Given the description of an element on the screen output the (x, y) to click on. 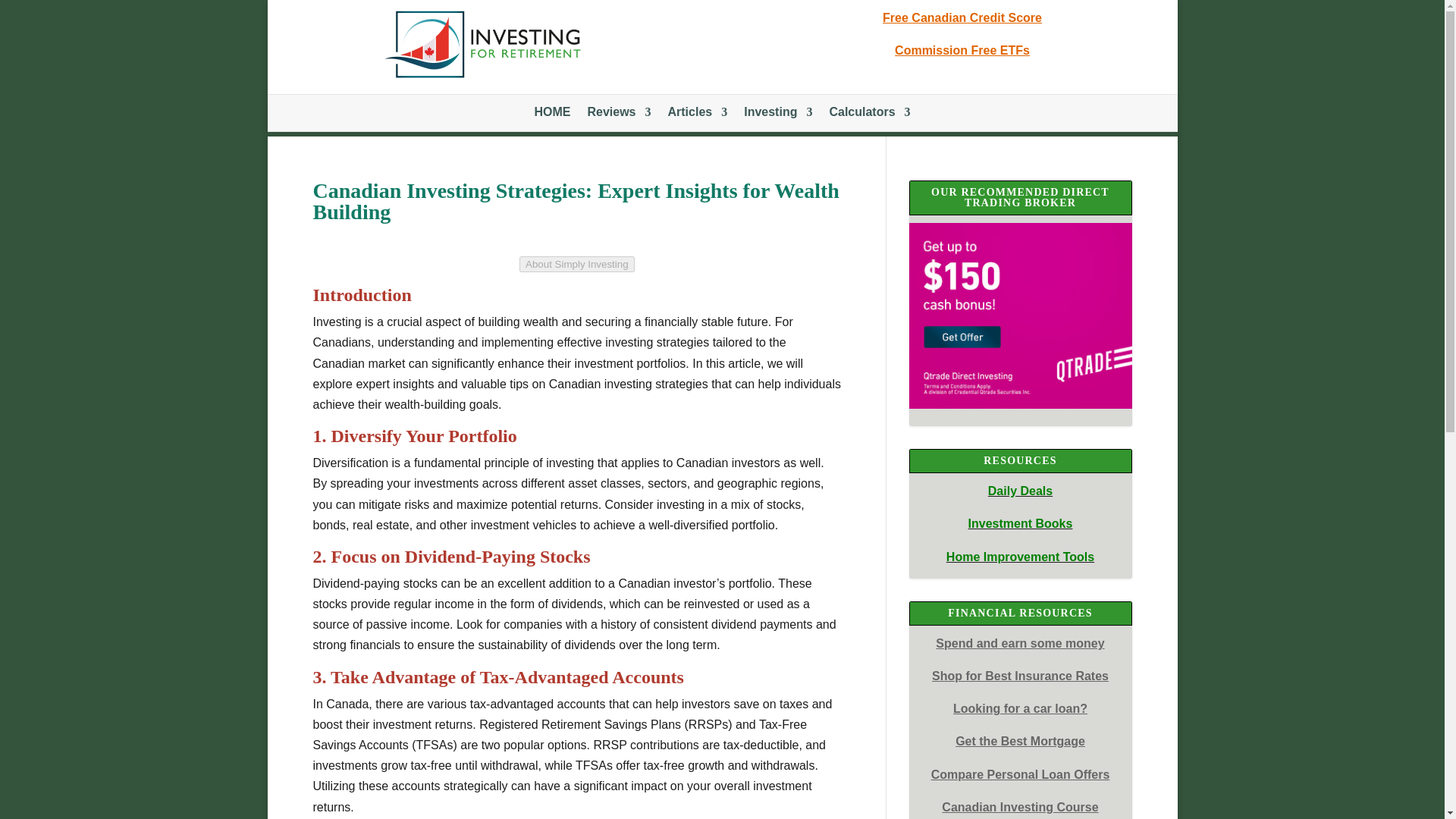
Commission Free ETFs (962, 50)
Reviews (618, 115)
Our Recommended Direct Trading Broker (1019, 315)
HOME (552, 115)
Free Canadian Credit Score (962, 17)
Investing (778, 115)
Articles (696, 115)
logo3 (481, 45)
